Given the description of an element on the screen output the (x, y) to click on. 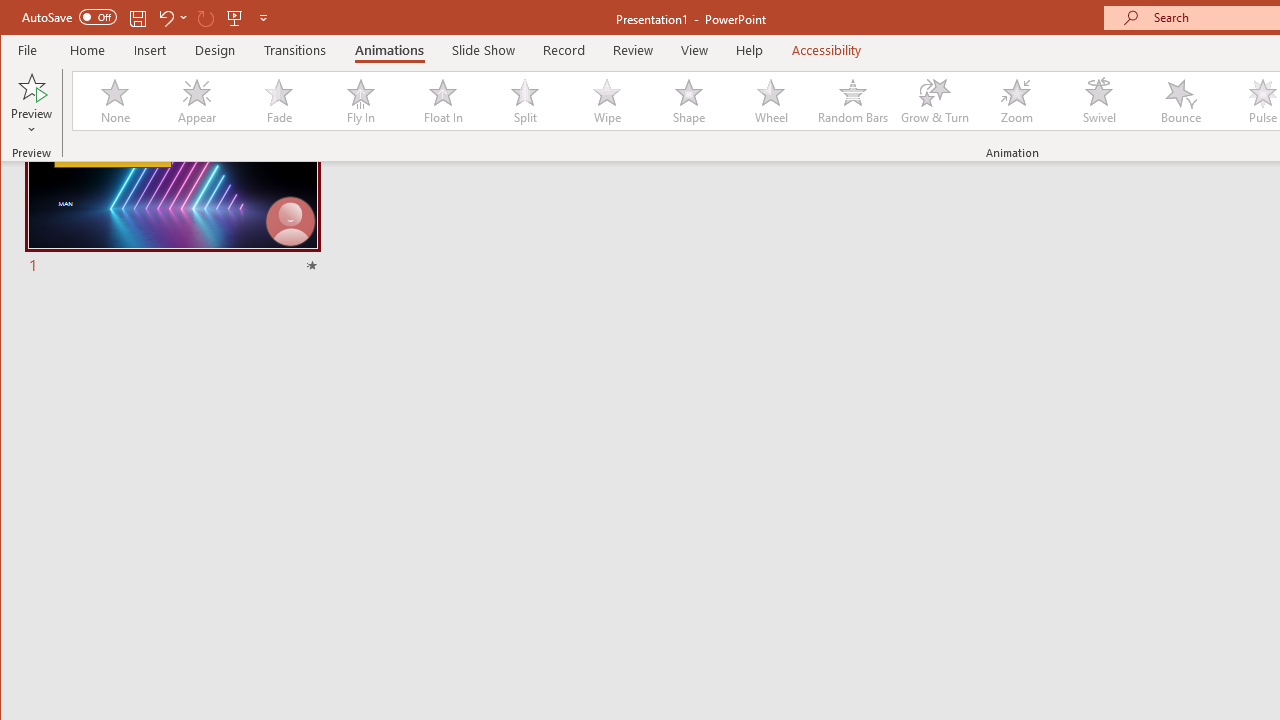
From Beginning (235, 17)
More Options (183, 17)
Save (138, 17)
File Tab (28, 49)
Design (215, 50)
Customize Quick Access Toolbar (263, 17)
Insert (150, 50)
Animations (388, 50)
Home (87, 50)
Redo (206, 17)
Transitions (294, 50)
